Given the description of an element on the screen output the (x, y) to click on. 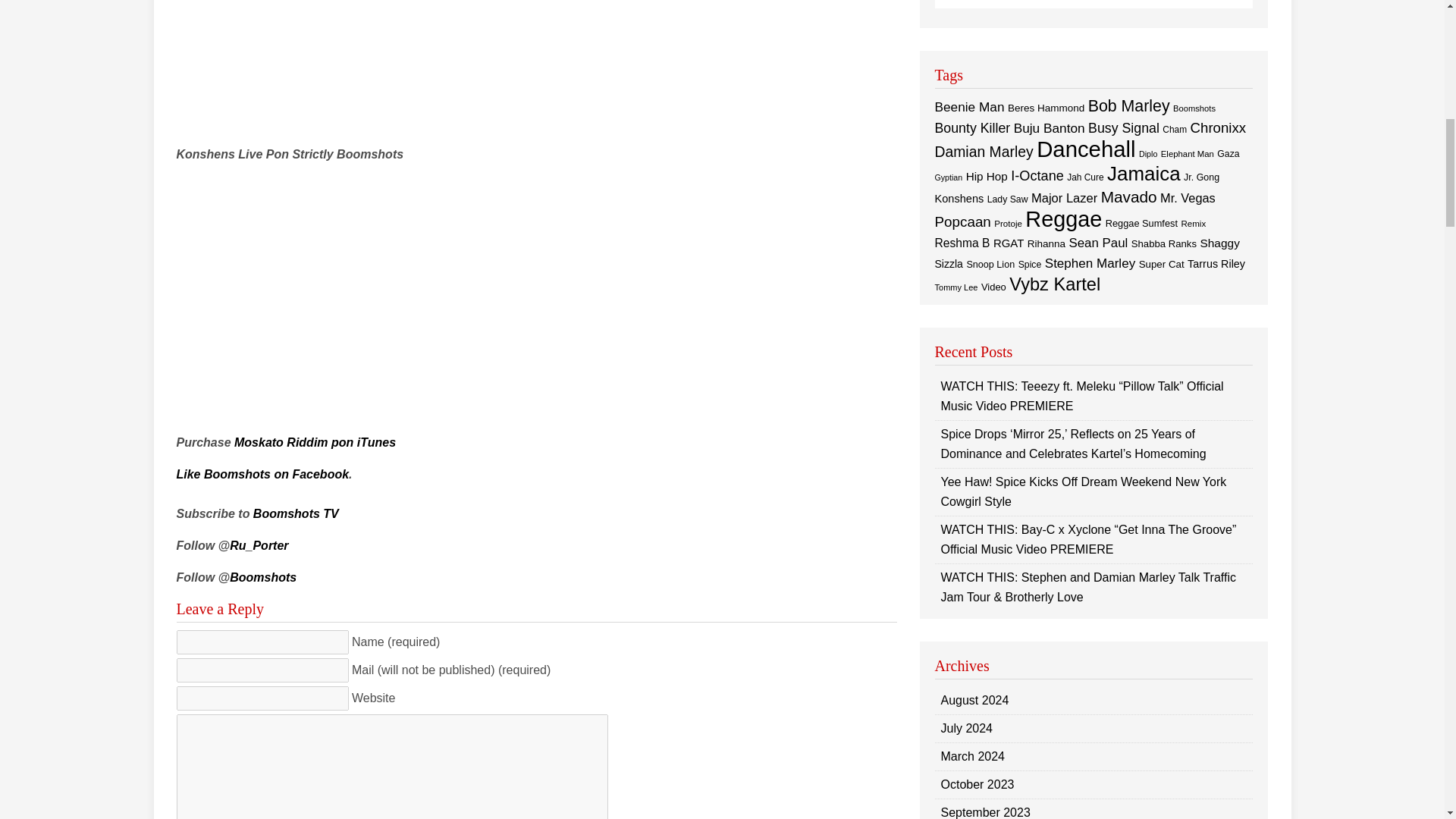
Boomshots Twitter feed (263, 576)
Boomshots (263, 576)
Boomshots TV on YouTube (296, 513)
Boomshots TV (296, 513)
Like Boomshots on Facebook (262, 473)
Moskato Riddim pon iTunes (315, 441)
